Given the description of an element on the screen output the (x, y) to click on. 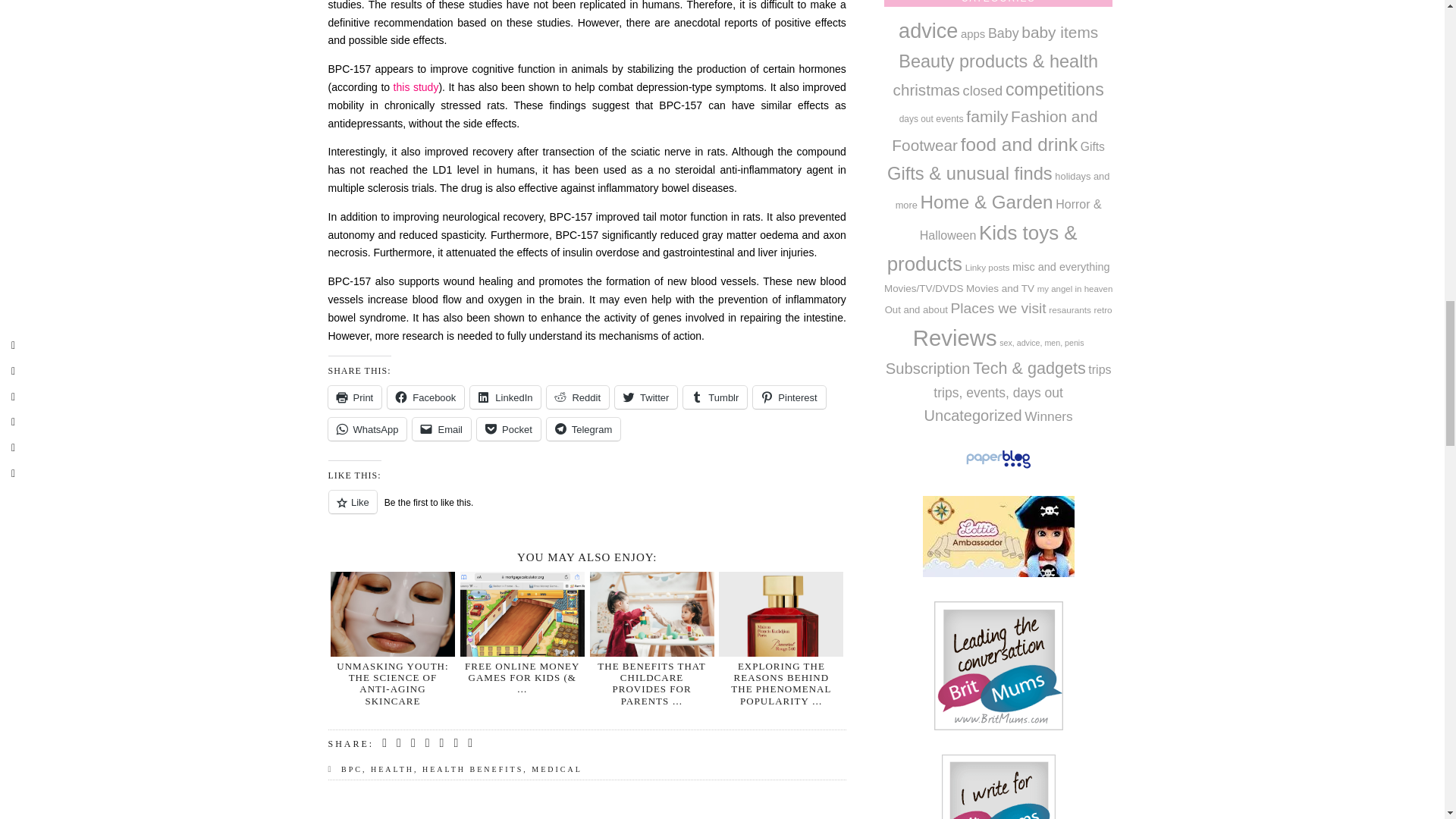
LinkedIn (505, 396)
Reddit (577, 396)
Click to share on Twitter (645, 396)
Click to share on Facebook (425, 396)
Click to print (354, 396)
Click to share on LinkedIn (505, 396)
Twitter (645, 396)
Click to share on Reddit (577, 396)
Print (354, 396)
this study (416, 87)
Tumblr (714, 396)
Facebook (425, 396)
